Given the description of an element on the screen output the (x, y) to click on. 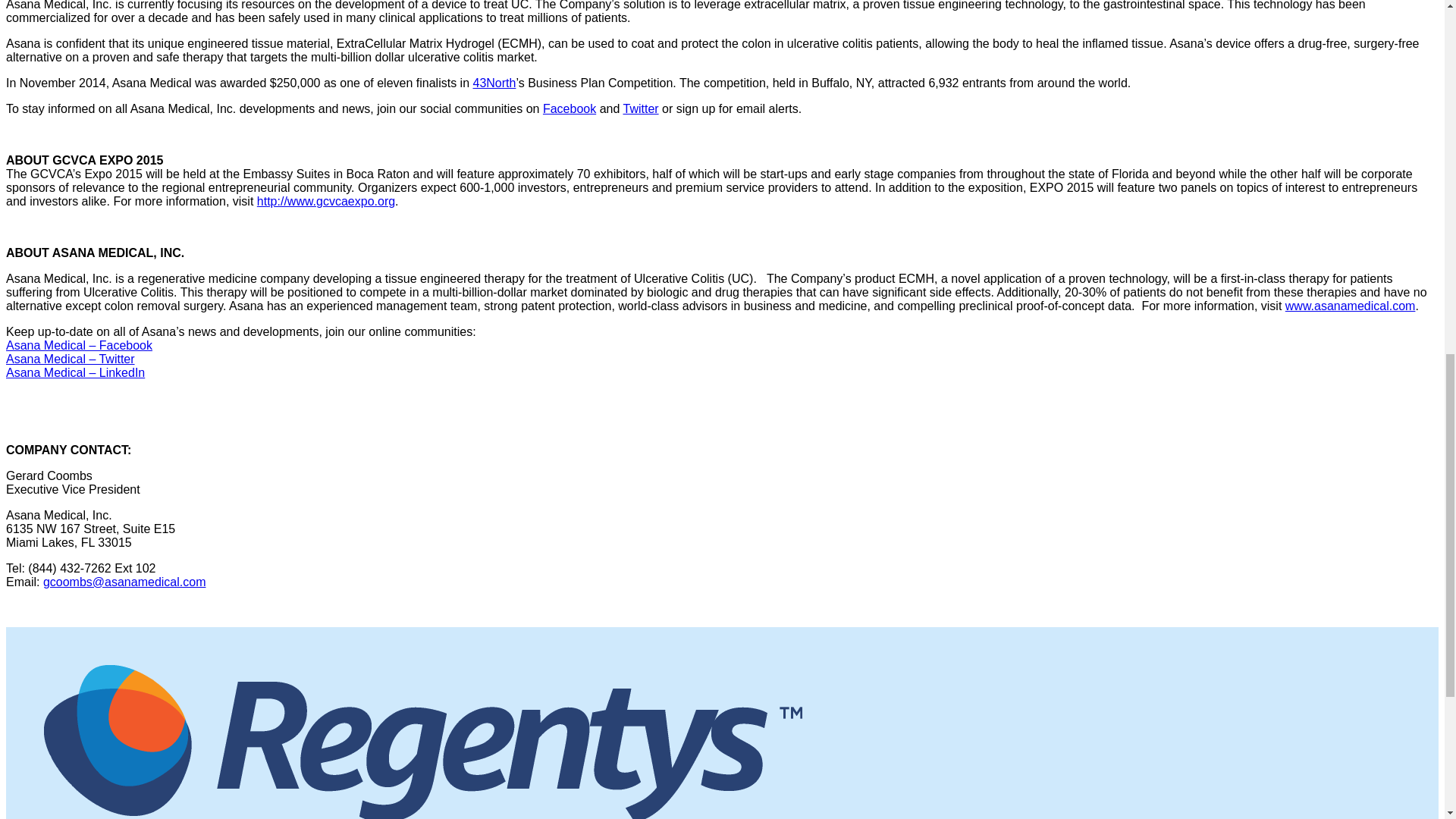
43North (494, 82)
Facebook (569, 108)
www.asanamedical.com (1350, 305)
Twitter (640, 108)
